Given the description of an element on the screen output the (x, y) to click on. 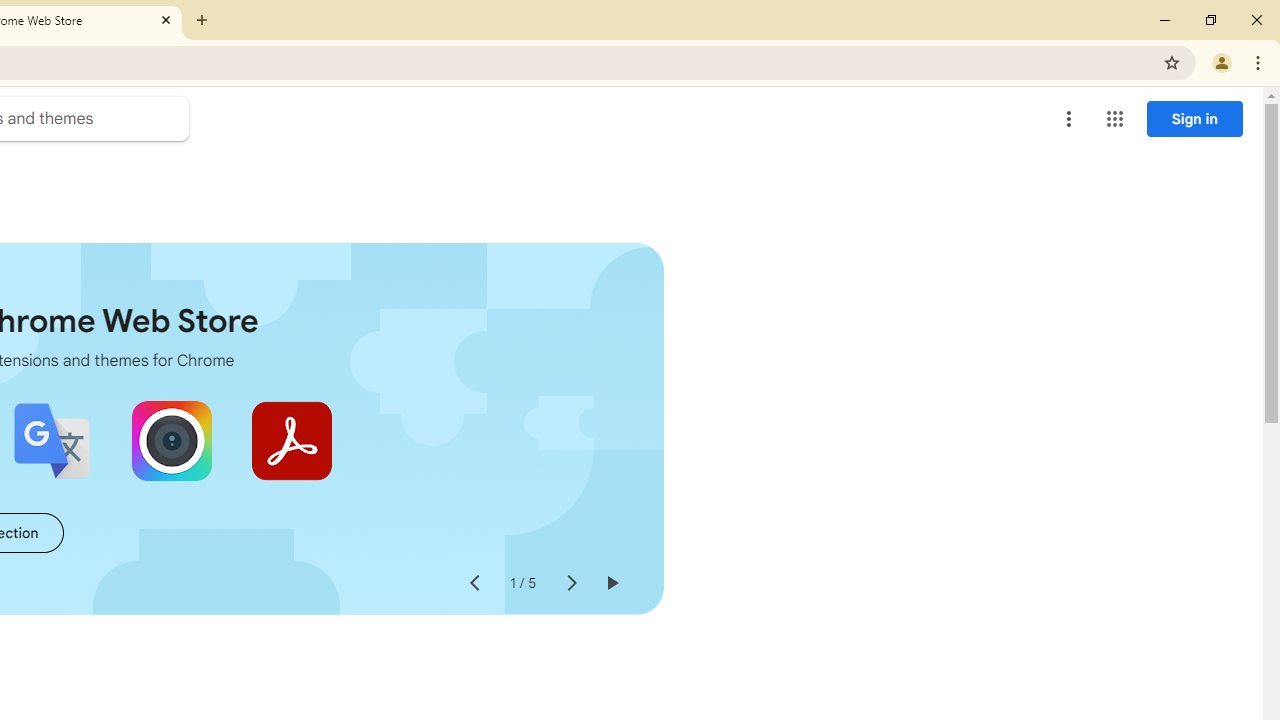
Next slide (570, 583)
